Given the description of an element on the screen output the (x, y) to click on. 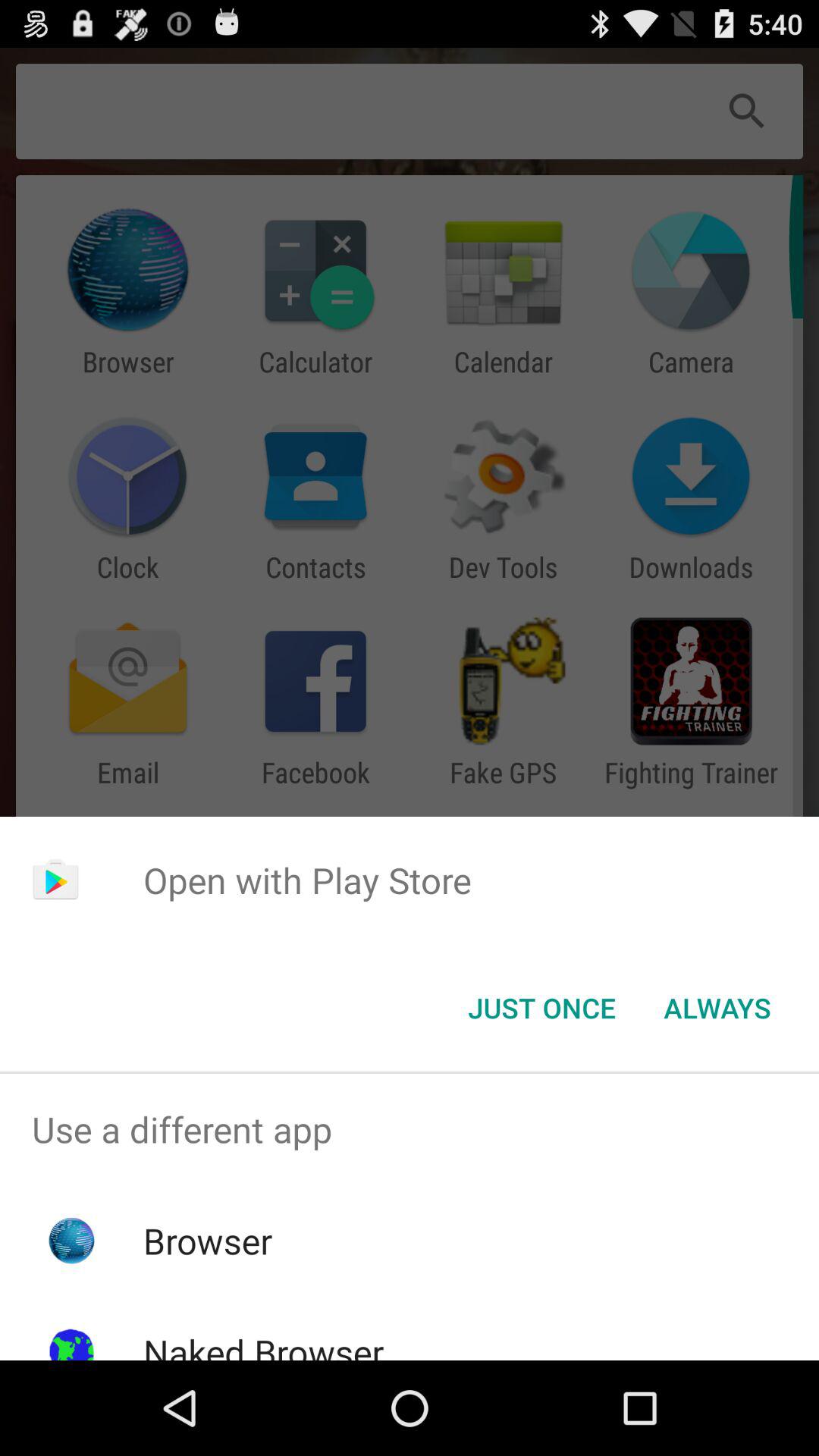
launch app below open with play item (717, 1007)
